Given the description of an element on the screen output the (x, y) to click on. 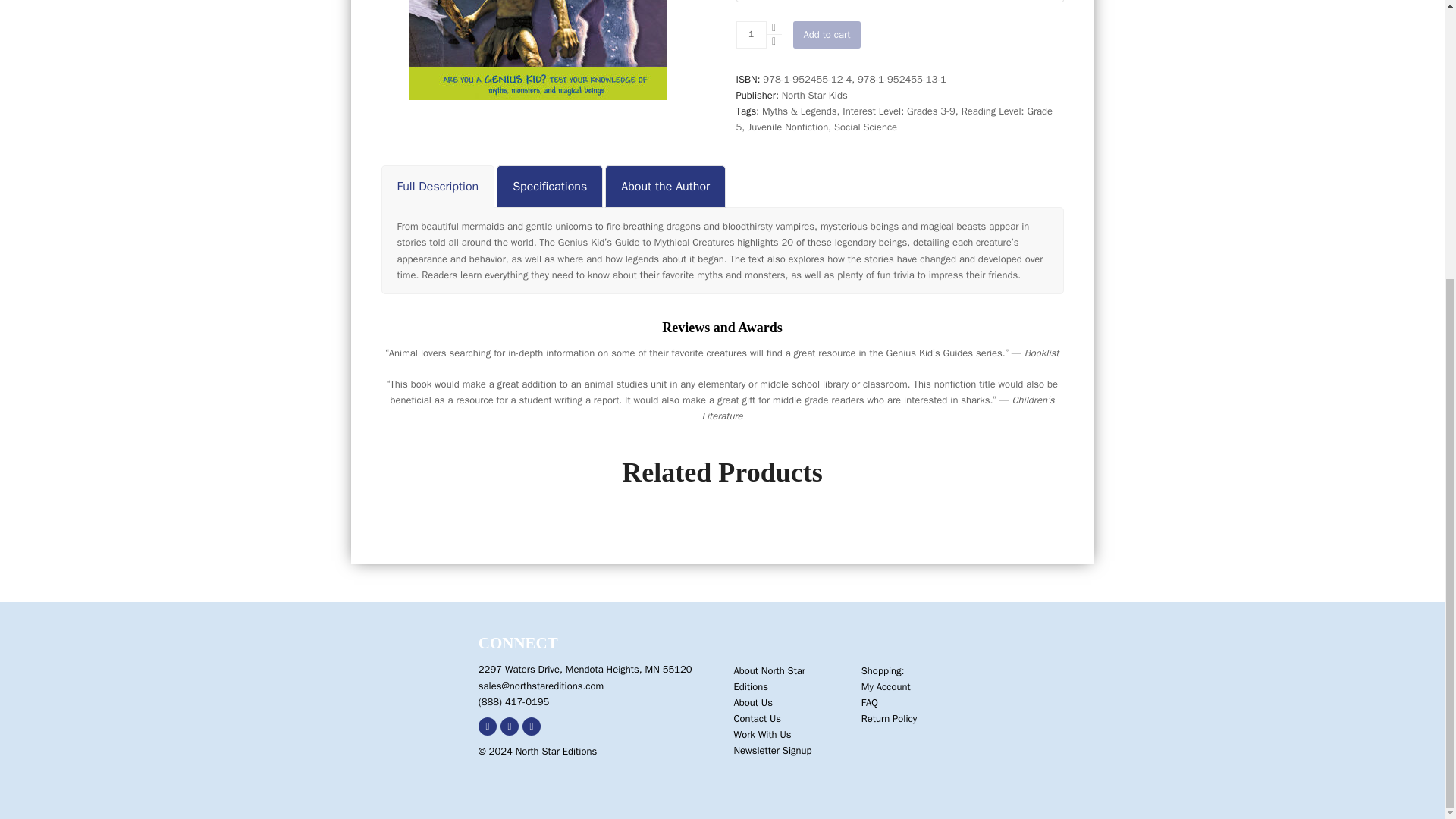
Reading Level: Grade 5 (893, 118)
1 (750, 34)
Add to cart (827, 34)
North Star Kids (814, 94)
Twitter (509, 726)
Social Science (865, 126)
Juvenile Nonfiction (788, 126)
Interest Level: Grades 3-9 (899, 110)
Facebook (487, 726)
